Given the description of an element on the screen output the (x, y) to click on. 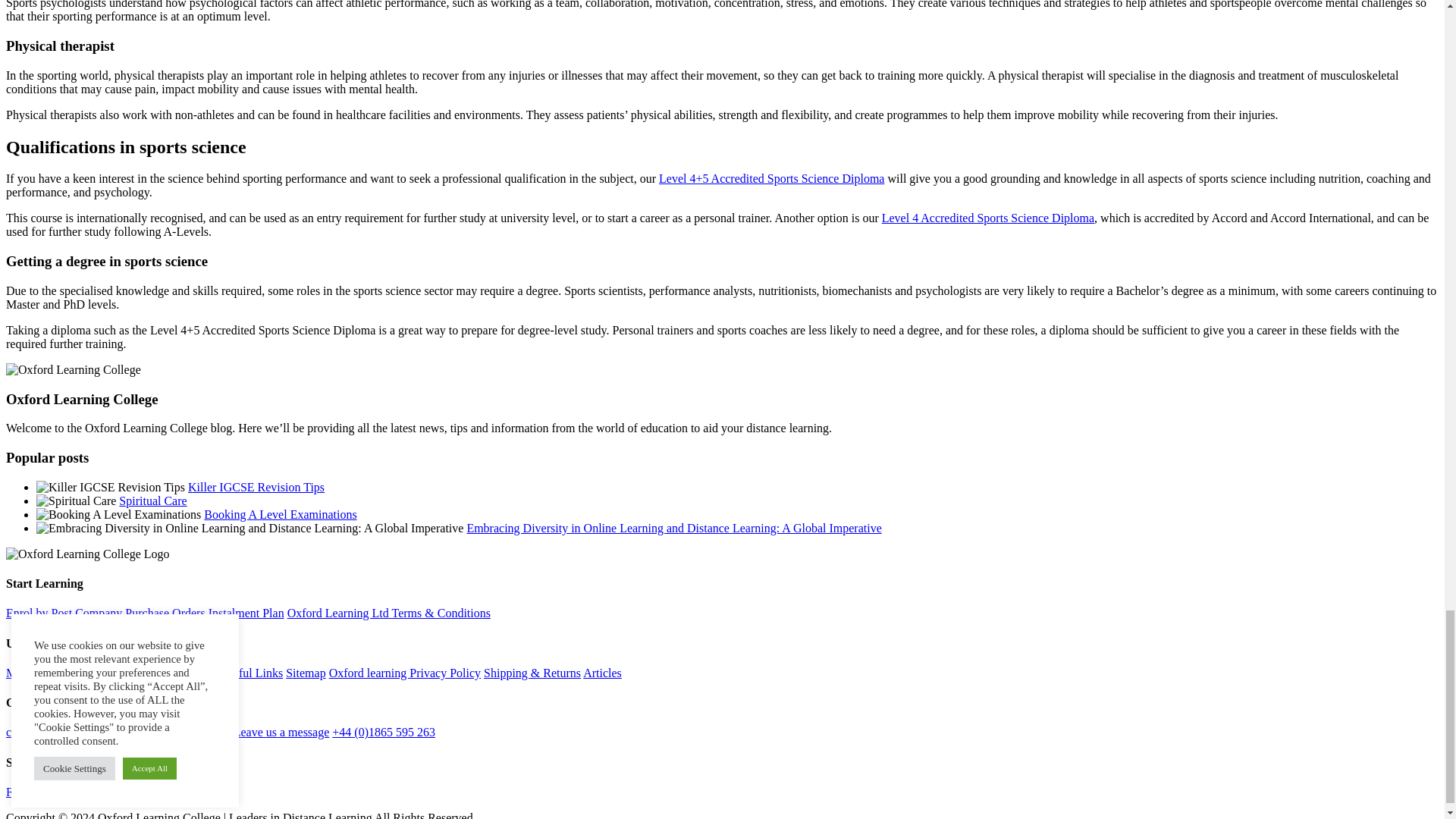
Booking A Level Examinations (279, 513)
Spiritual Care (152, 500)
Killer IGCSE Revision Tips (255, 486)
